Given the description of an element on the screen output the (x, y) to click on. 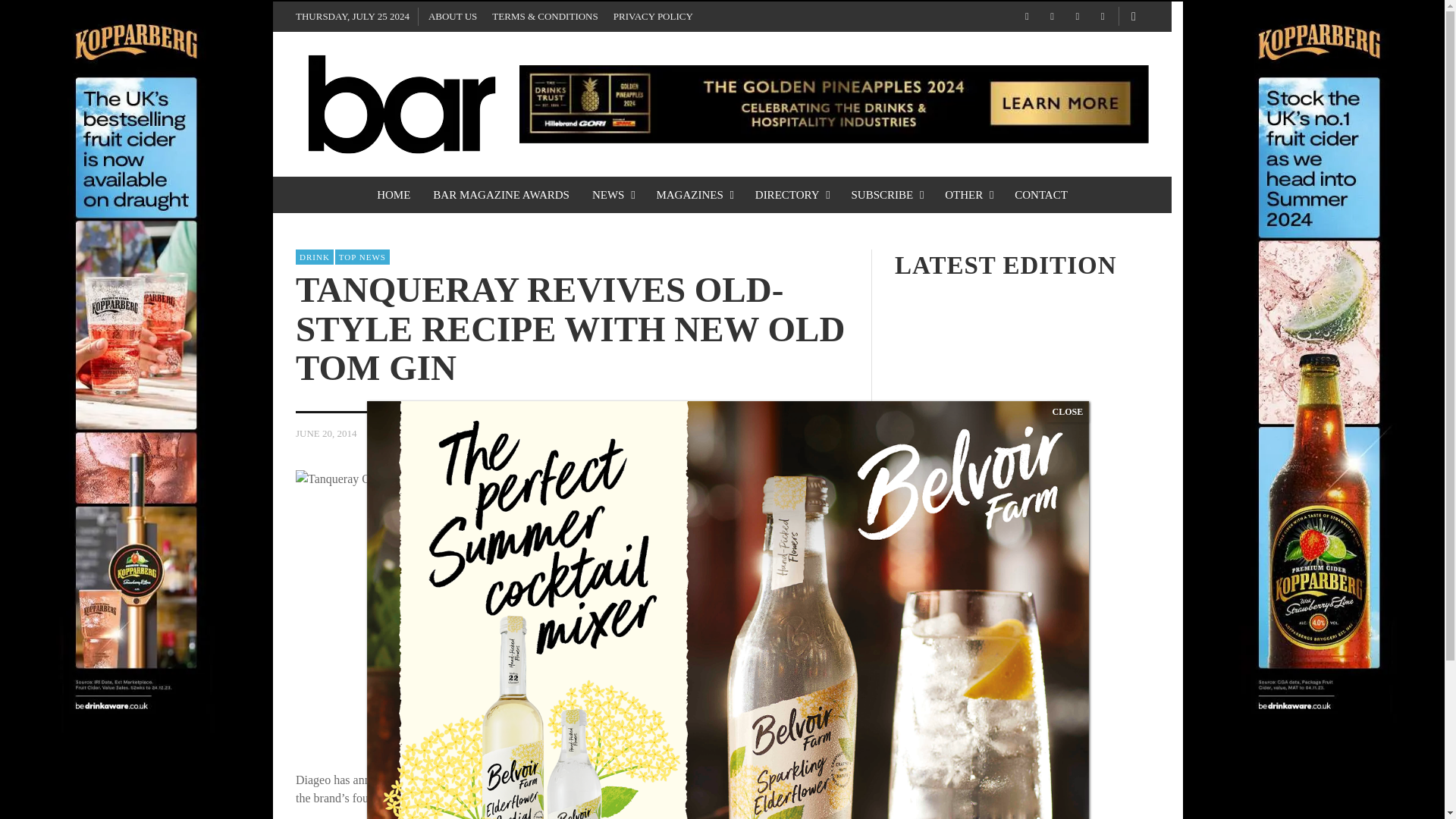
View all posts in Drink (314, 256)
HOME (393, 194)
PRIVACY POLICY (652, 16)
BAR MAGAZINE AWARDS (501, 194)
View all posts in Top news (362, 256)
ABOUT US (452, 16)
NEWS (612, 194)
MAGAZINES (693, 194)
